Given the description of an element on the screen output the (x, y) to click on. 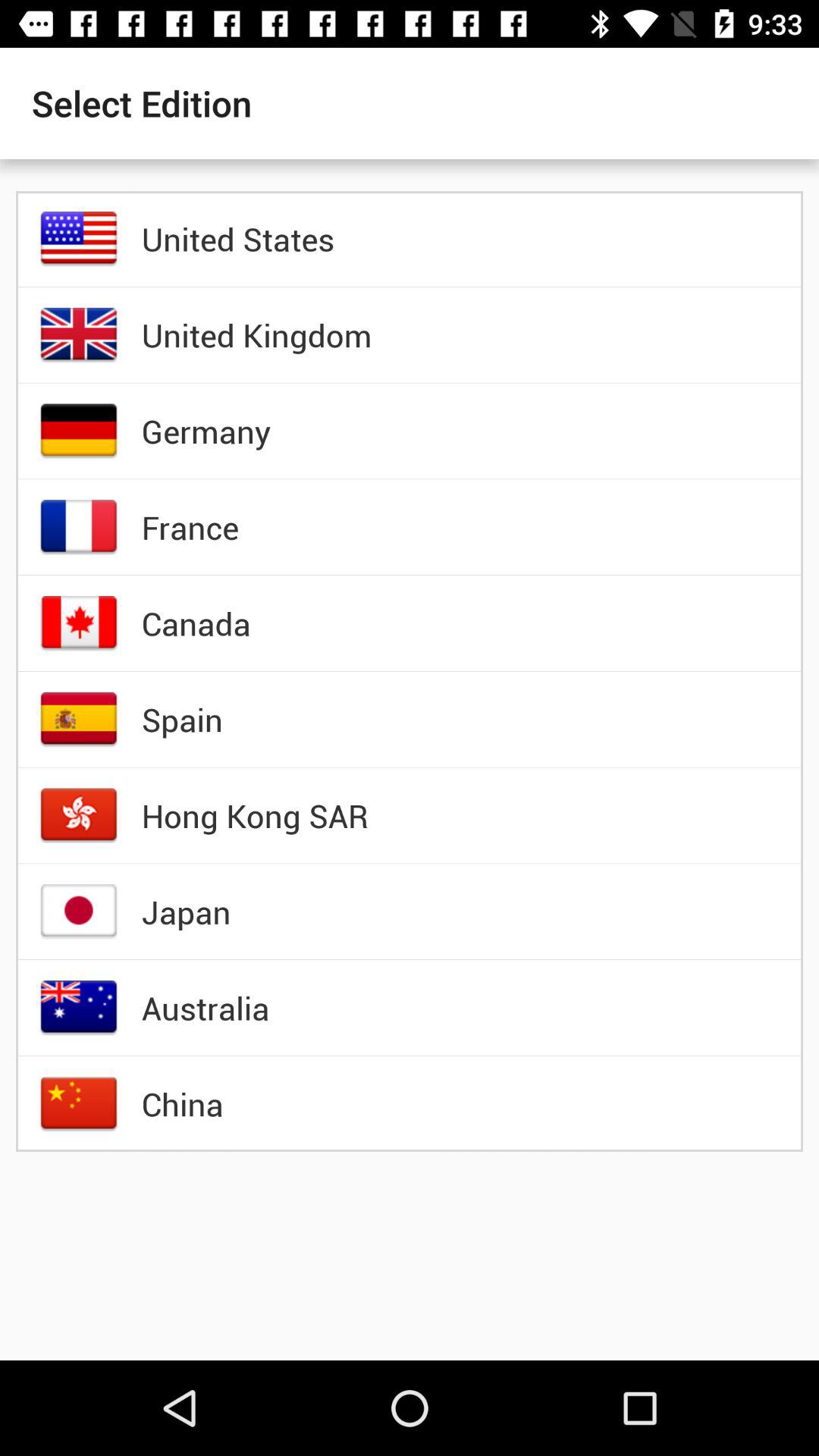
scroll until canada icon (195, 623)
